Given the description of an element on the screen output the (x, y) to click on. 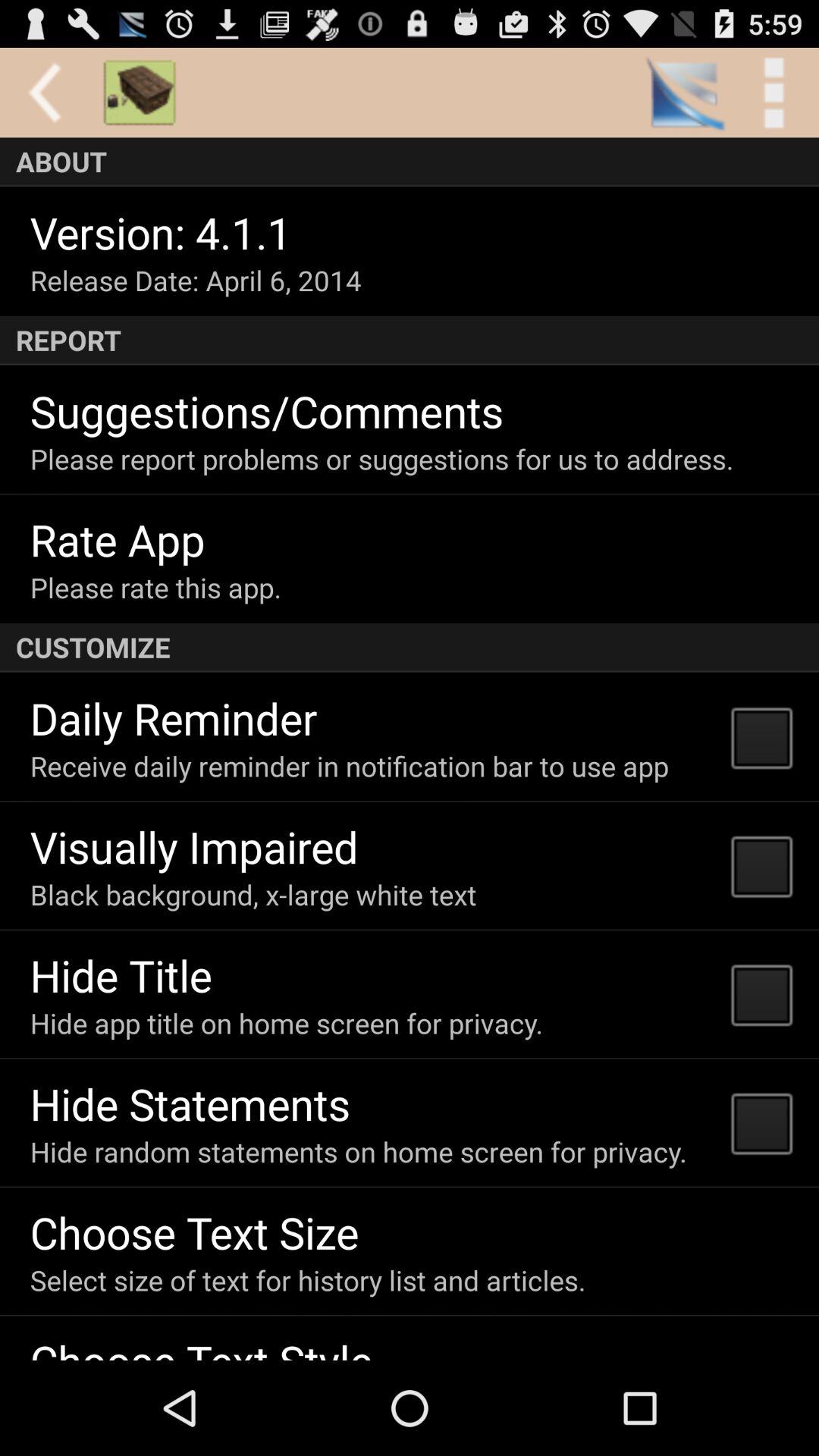
launch the customize item (409, 647)
